Given the description of an element on the screen output the (x, y) to click on. 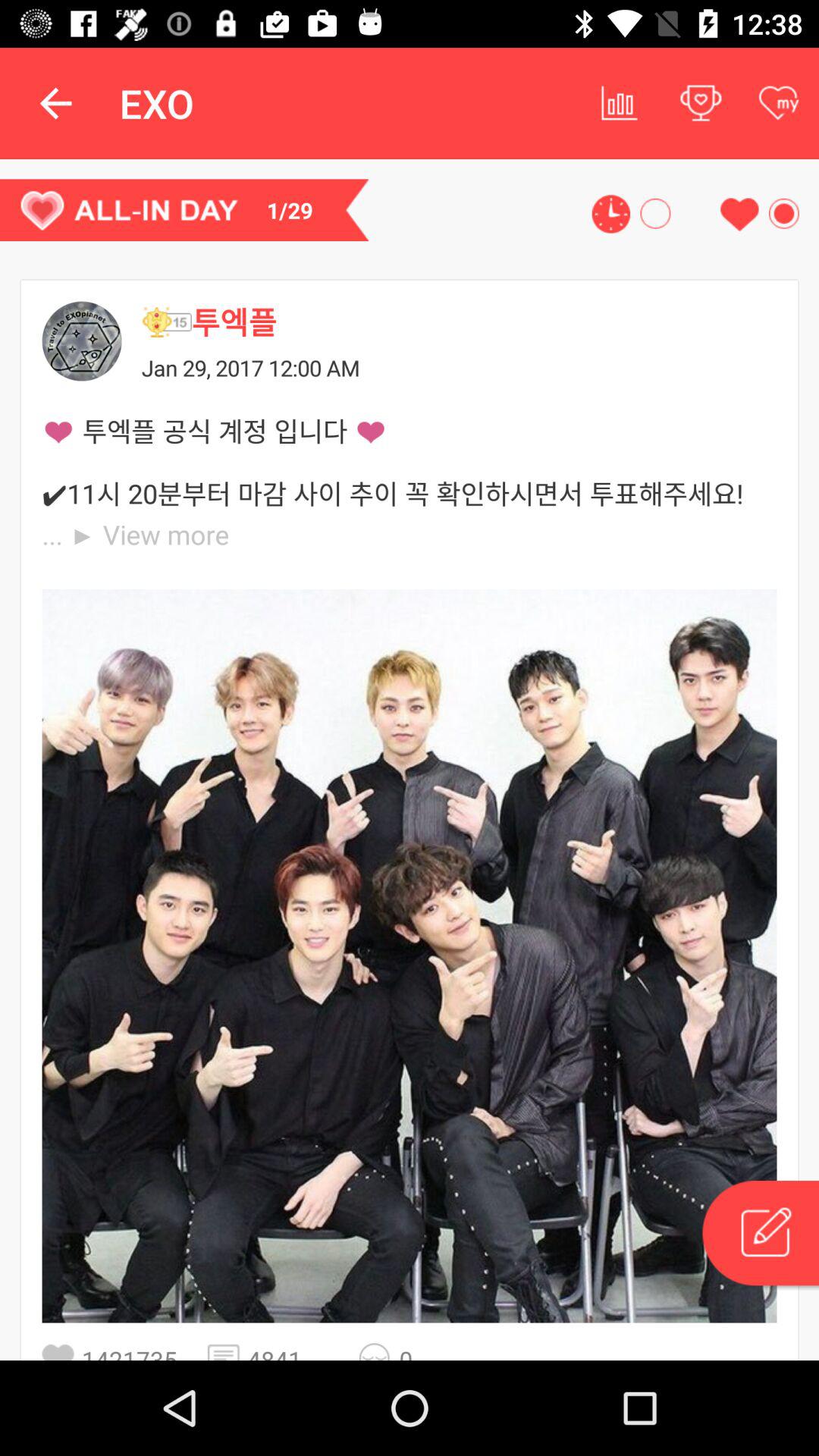
turn off the item next to the 0 icon (379, 1351)
